Given the description of an element on the screen output the (x, y) to click on. 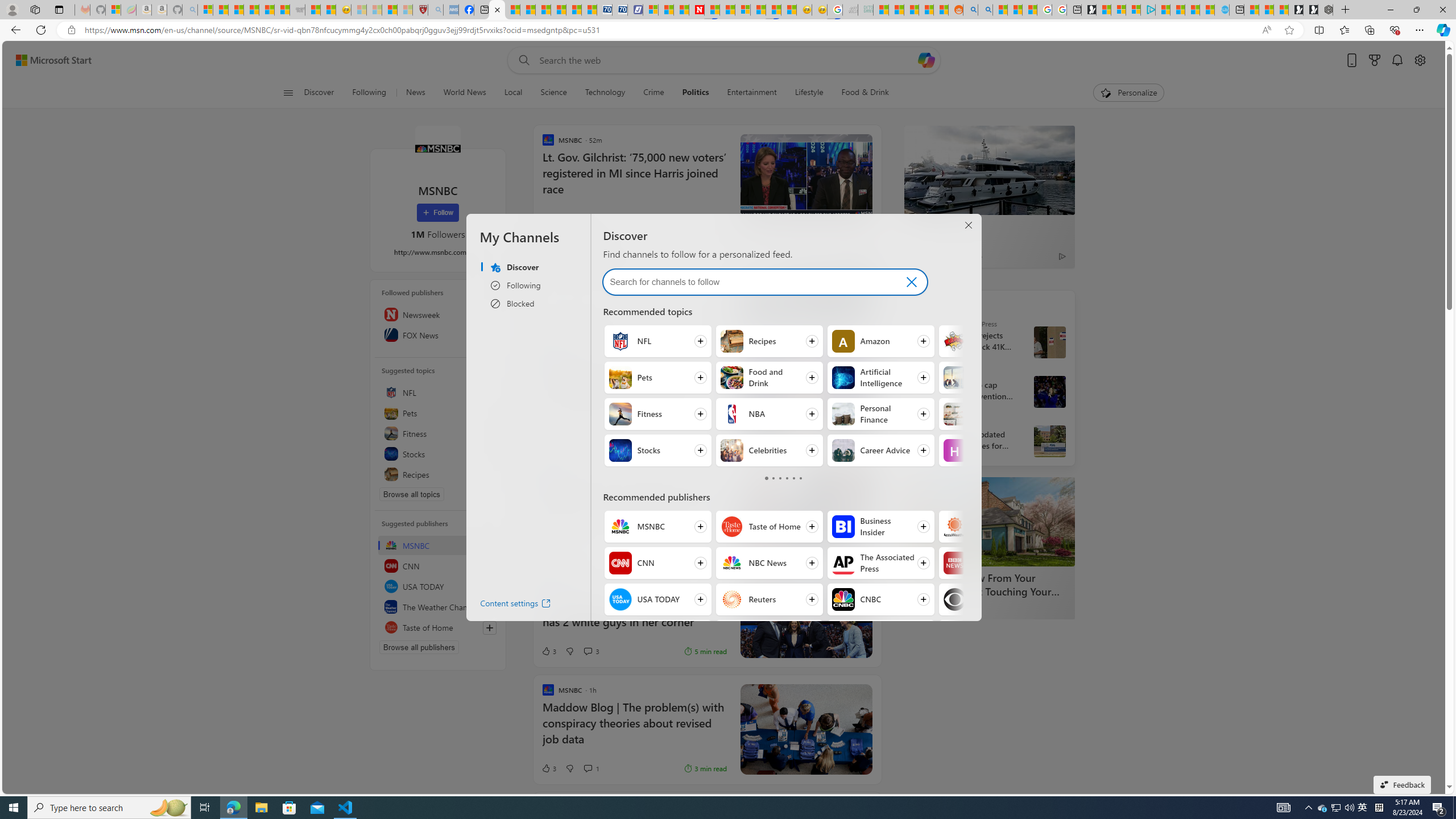
Follow MSNBC (657, 526)
Follow Comics (992, 341)
Personal Finance (842, 413)
How To Borrow From Your Home Without Touching Your Mortgage (989, 521)
Student Loan Update: Forgiveness Program Ends This Month (926, 9)
Food & Drink (860, 92)
5 Like (547, 549)
Follow Healthy Eating (992, 450)
Search for channels to follow (747, 281)
CNN (437, 565)
Pets (437, 412)
